Given the description of an element on the screen output the (x, y) to click on. 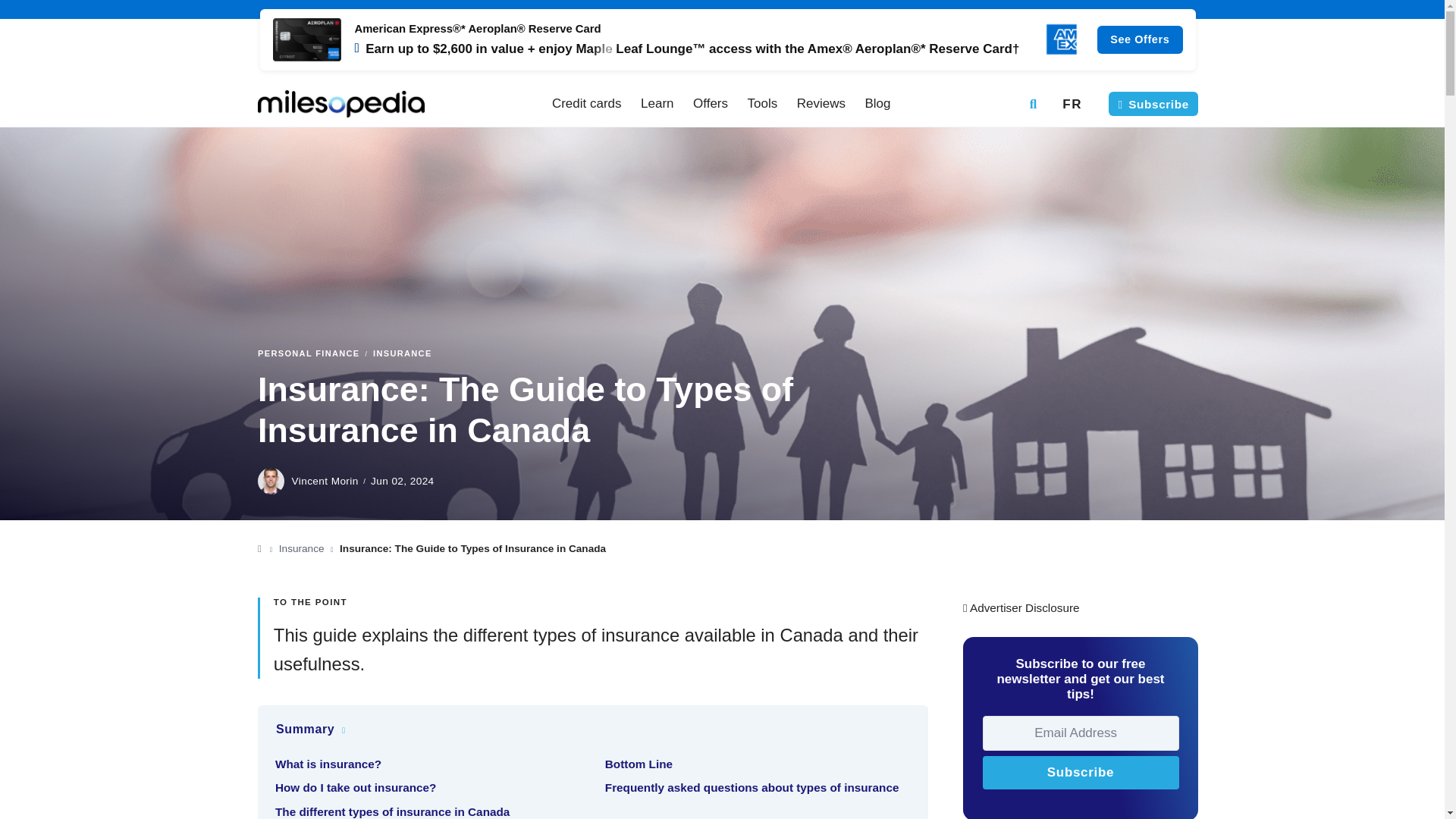
See Offers (727, 39)
